Given the description of an element on the screen output the (x, y) to click on. 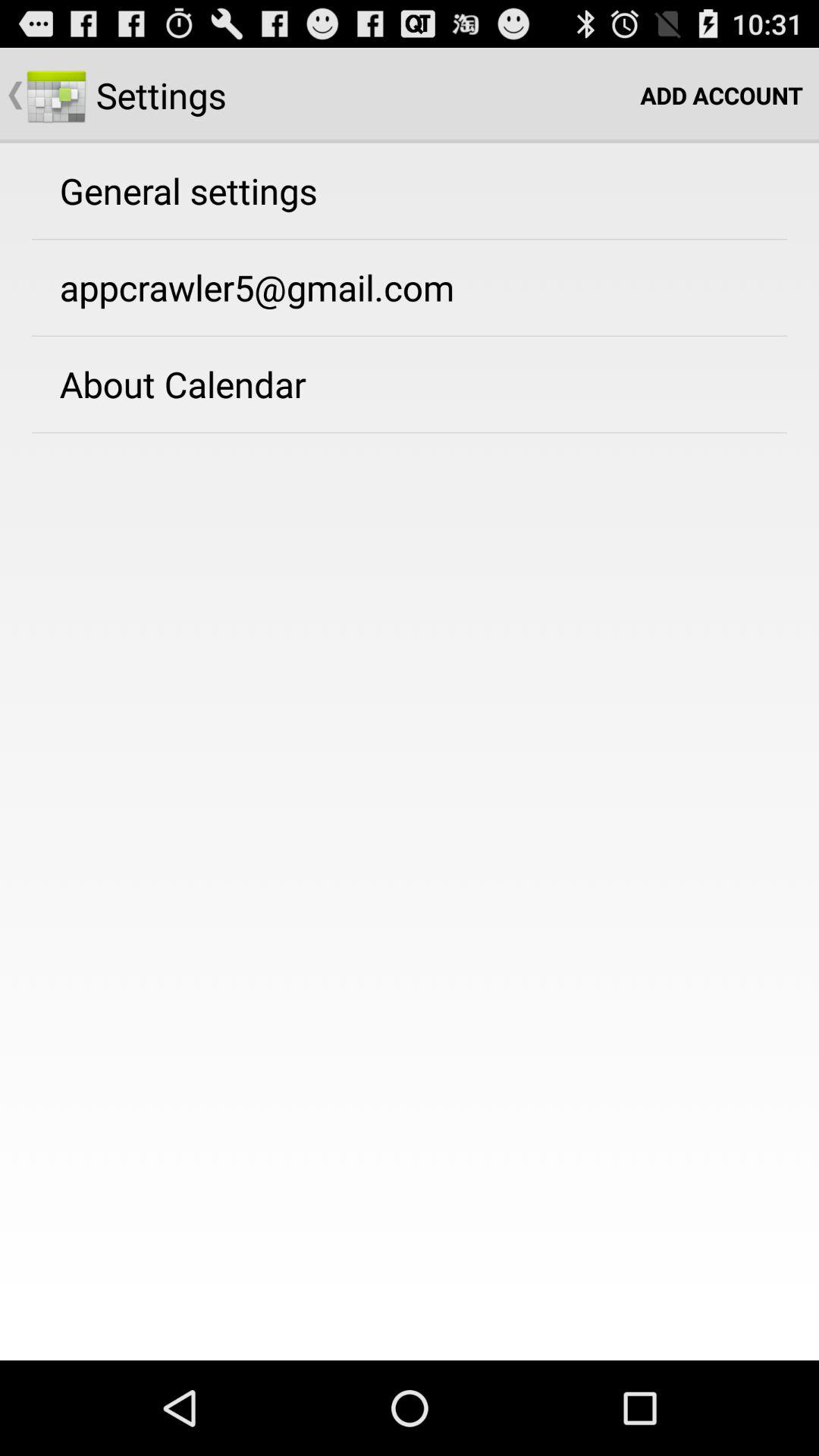
turn on the item above appcrawler5@gmail.com app (188, 190)
